Given the description of an element on the screen output the (x, y) to click on. 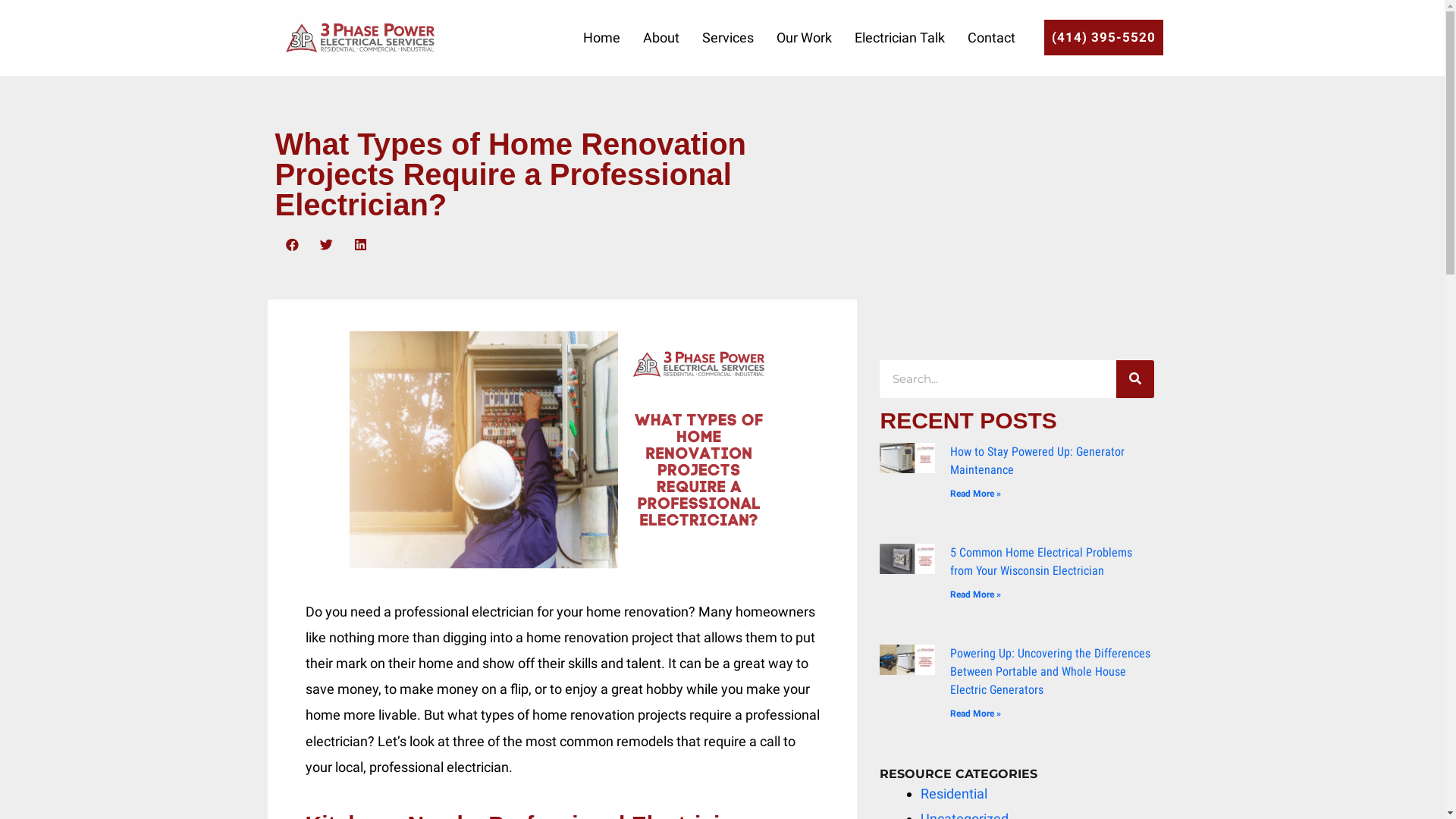
How to Stay Powered Up: Generator Maintenance Element type: text (1037, 460)
Electrician Talk Element type: text (899, 37)
Home Element type: text (601, 37)
About Element type: text (660, 37)
(414) 395-5520 Element type: text (1103, 37)
Contact Element type: text (991, 37)
Services Element type: text (727, 37)
SEARCH Element type: text (1135, 379)
Residential Element type: text (953, 793)
Our Work Element type: text (804, 37)
